Given the description of an element on the screen output the (x, y) to click on. 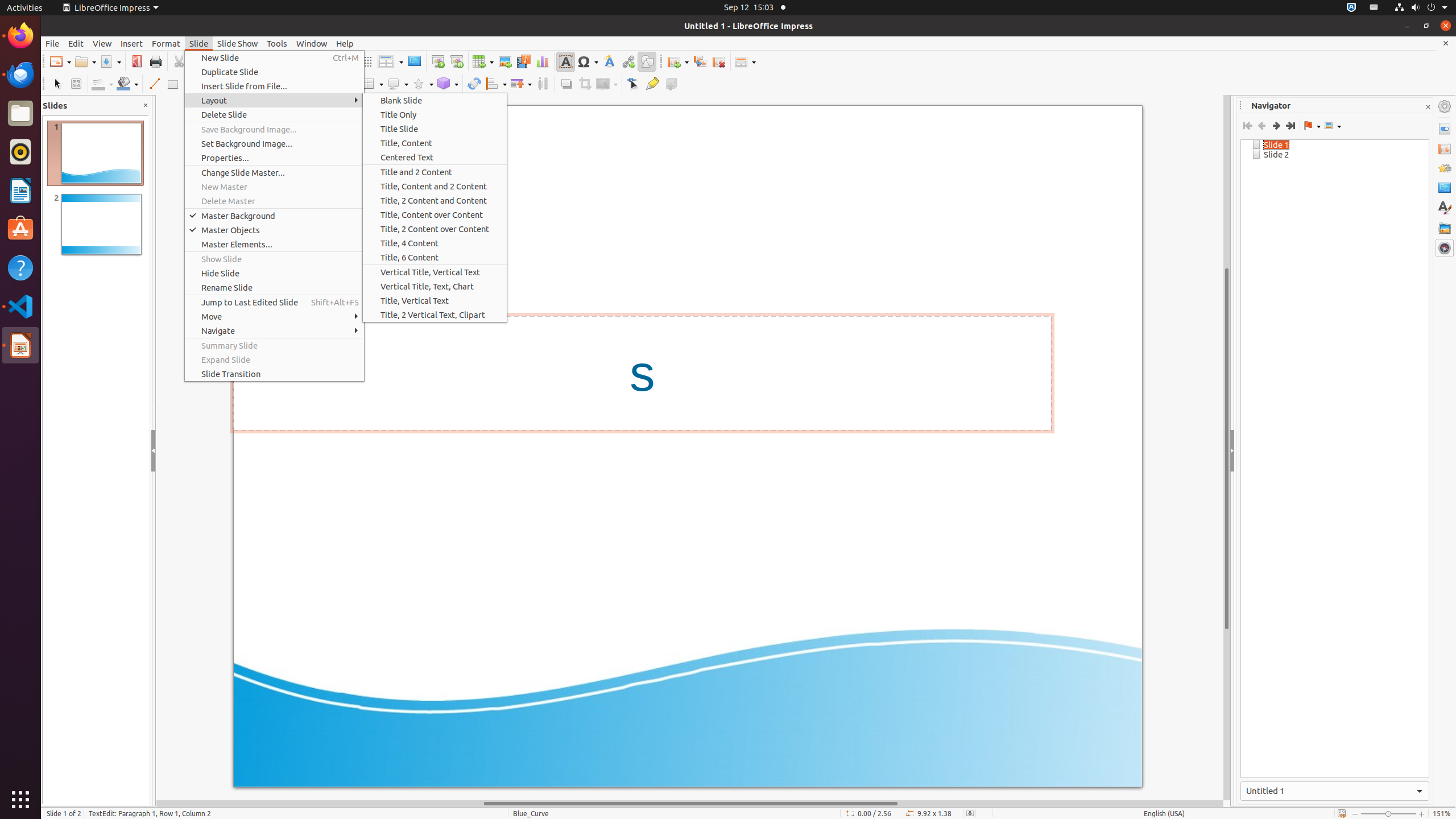
Navigate Element type: menu (274, 330)
Navigator Element type: radio-button (1444, 247)
Format Element type: menu (165, 43)
Tools Element type: menu (276, 43)
